Given the description of an element on the screen output the (x, y) to click on. 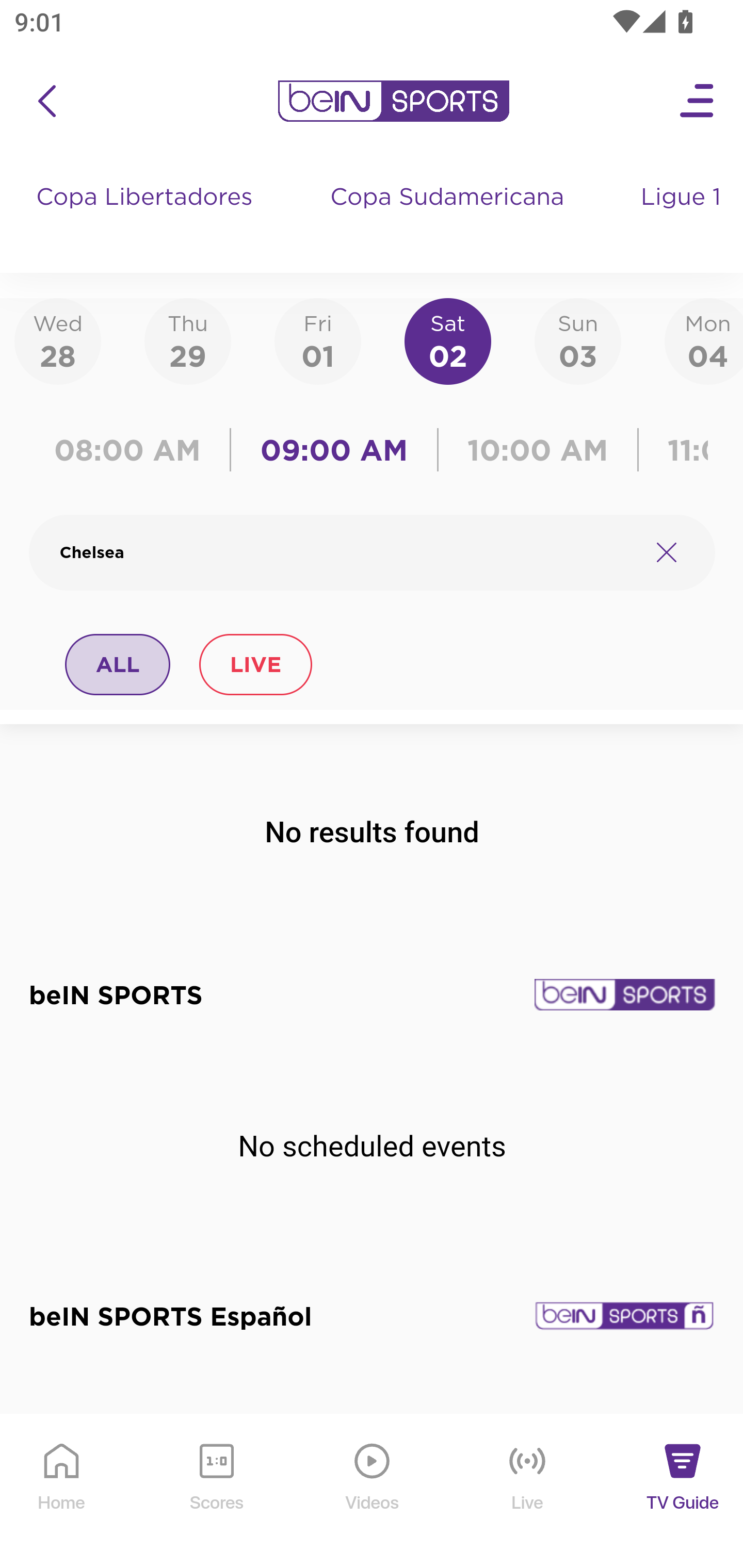
en-us?platform=mobile_android bein logo (392, 101)
icon back (46, 101)
Open Menu Icon (697, 101)
Copa Libertadores (146, 216)
Copa Sudamericana (448, 216)
Ligue 1 (682, 216)
Wed28 (58, 340)
Thu29 (187, 340)
Fri01 (318, 340)
Sat02 (447, 340)
Sun03 (578, 340)
Mon04 (703, 340)
08:00 AM (134, 449)
09:00 AM (334, 449)
10:00 AM (537, 449)
Chelsea (346, 552)
ALL (118, 663)
LIVE (255, 663)
Home Home Icon Home (61, 1491)
Scores Scores Icon Scores (216, 1491)
Videos Videos Icon Videos (372, 1491)
TV Guide TV Guide Icon TV Guide (682, 1491)
